Given the description of an element on the screen output the (x, y) to click on. 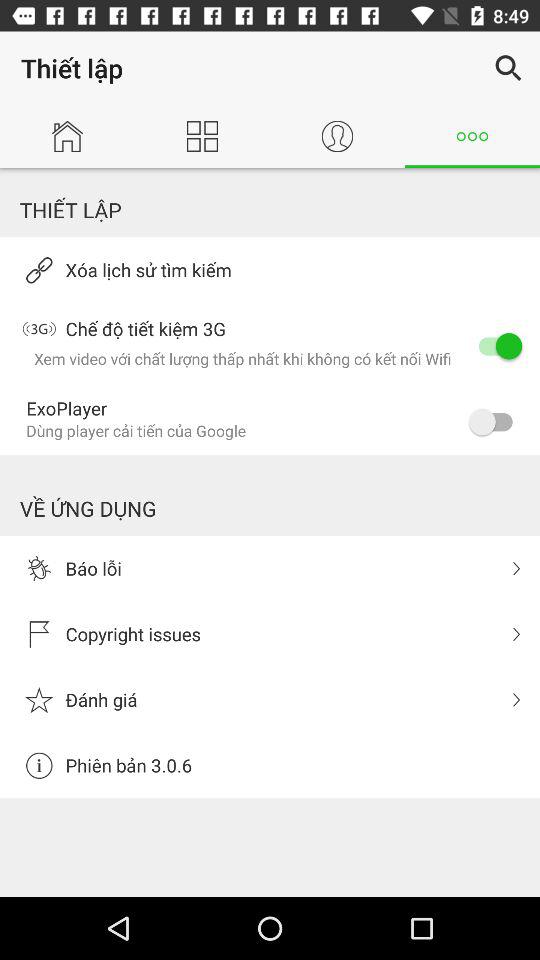
open the item to the right of the exoplayer item (495, 421)
